Given the description of an element on the screen output the (x, y) to click on. 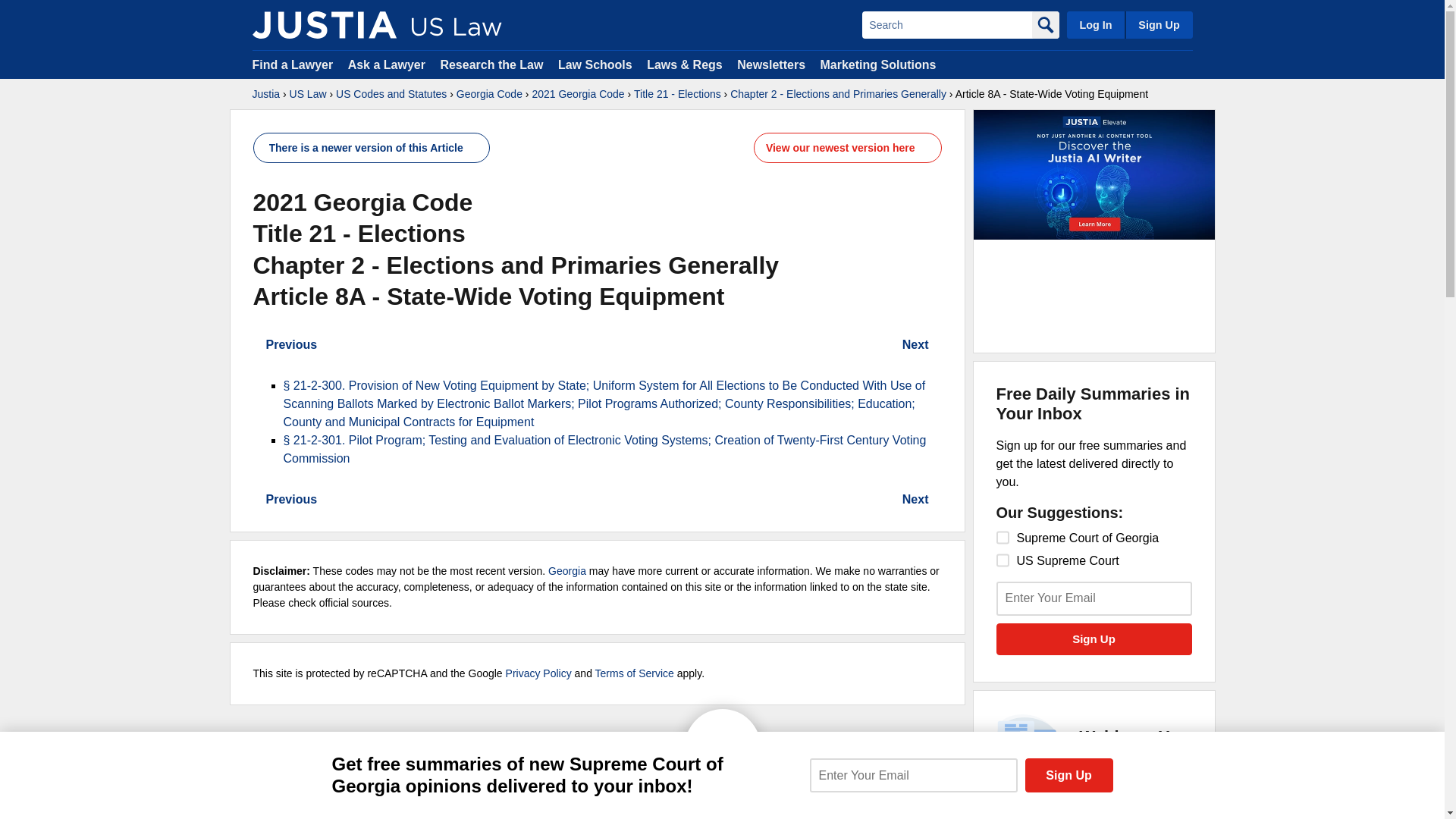
US Codes and Statutes (391, 93)
Previous (285, 344)
View our newest version here (840, 147)
Log In (1094, 24)
Ask a Lawyer (388, 64)
Marketing Solutions (877, 64)
US Law (307, 93)
Georgia Code (489, 93)
14 (1002, 559)
right (257, 499)
2021 Georgia Code (577, 93)
Newsletters (770, 64)
Sign Up (1158, 24)
right (937, 344)
86 (1002, 536)
